Given the description of an element on the screen output the (x, y) to click on. 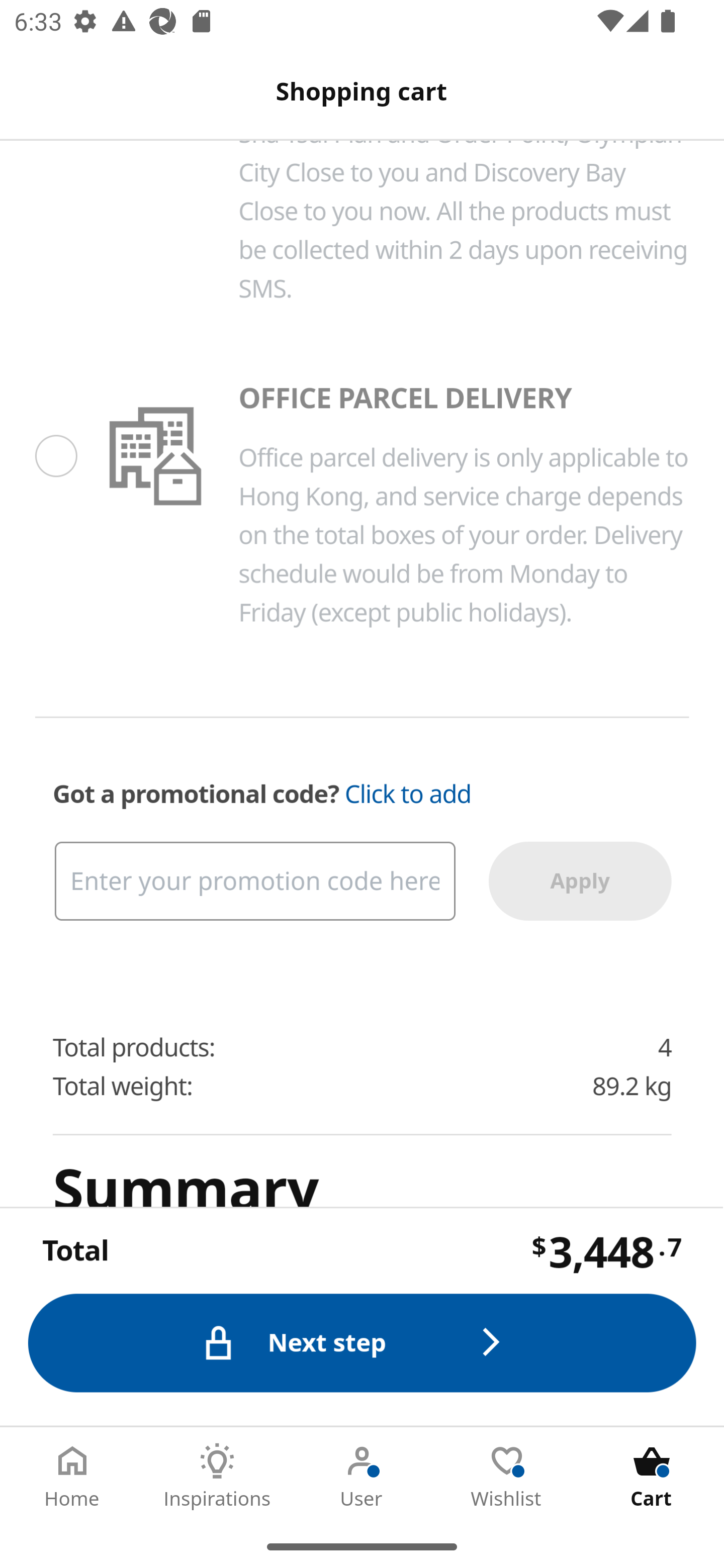
Click to add (408, 794)
 Next step  (363, 1342)
Home
Tab 1 of 5 (72, 1476)
Inspirations
Tab 2 of 5 (216, 1476)
User
Tab 3 of 5 (361, 1476)
Wishlist
Tab 4 of 5 (506, 1476)
Cart
Tab 5 of 5 (651, 1476)
